Given the description of an element on the screen output the (x, y) to click on. 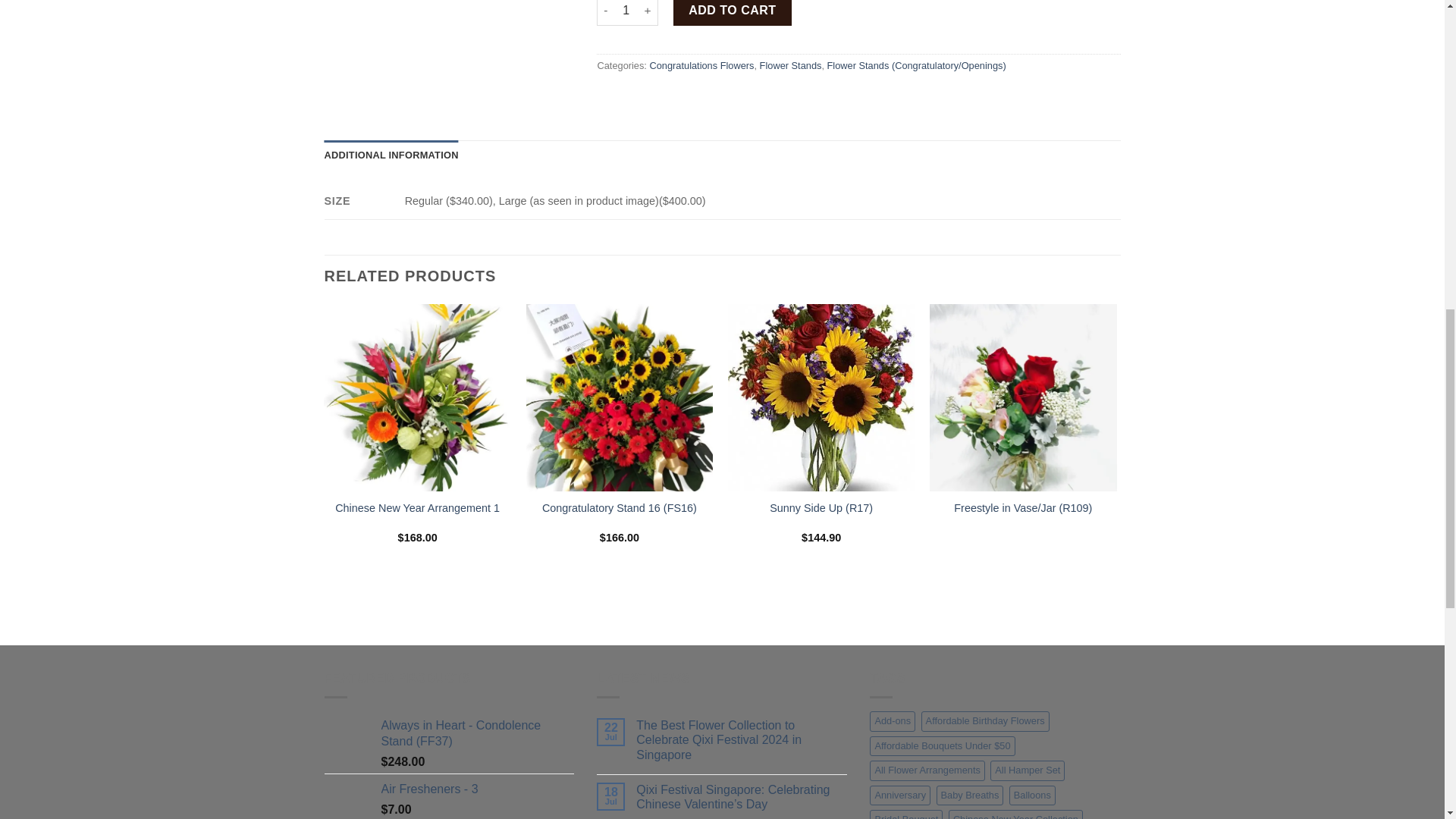
1 (626, 12)
Qty (626, 12)
